Given the description of an element on the screen output the (x, y) to click on. 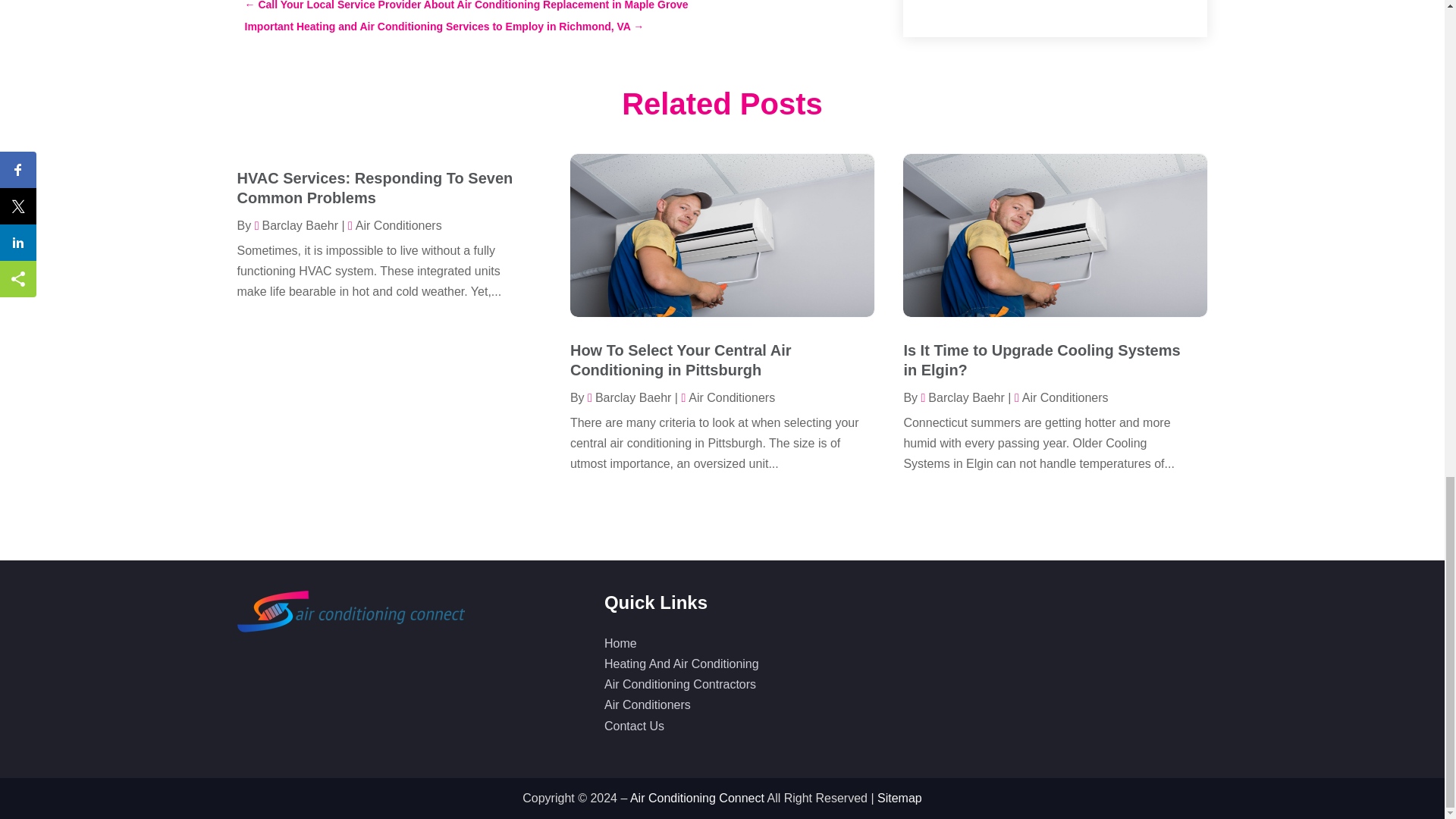
Heat Pump Repair (986, 70)
Heat And Air (970, 42)
Posts by Barclay Baehr (962, 397)
Air Conditioning Connect - Footer Logo (349, 611)
Posts by Barclay Baehr (295, 225)
Heating And Air Conditioning (1014, 183)
Heating (957, 98)
Posts by Barclay Baehr (629, 397)
Electrician (964, 14)
